Given the description of an element on the screen output the (x, y) to click on. 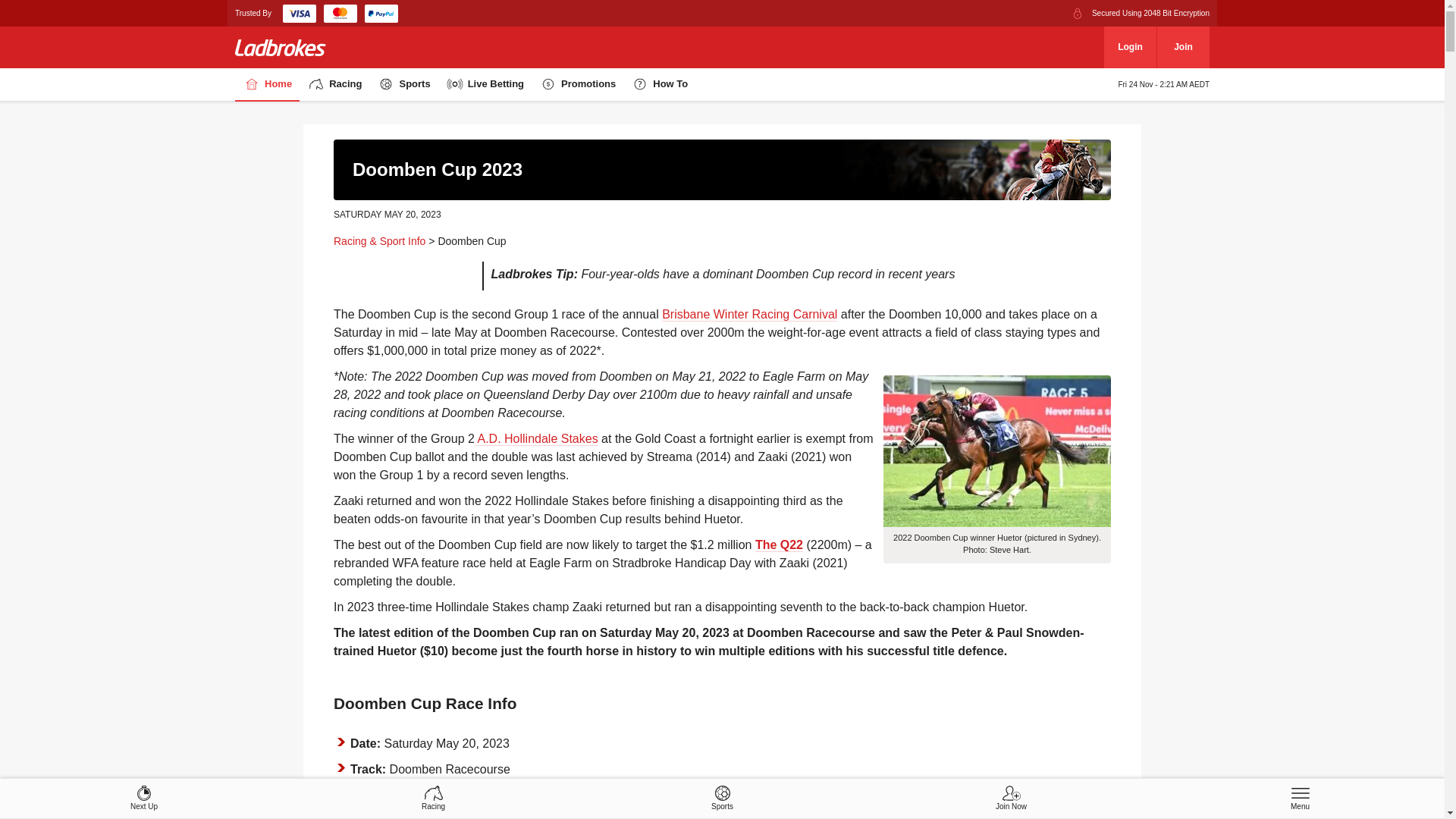
Home Element type: text (267, 84)
Sports Element type: text (722, 798)
How To Element type: text (659, 84)
Racing Element type: text (334, 84)
Racing Element type: text (433, 798)
Join Element type: text (1182, 47)
A.D. Hollindale Stakes Element type: text (536, 438)
Promotions Element type: text (577, 84)
Sports Element type: text (403, 84)
Brisbane Winter Racing Carnival Element type: text (749, 314)
The Q22 Element type: text (779, 545)
Next Up Element type: text (144, 798)
Racing & Sport Info Element type: text (379, 241)
Join Now Element type: text (1010, 798)
Live Betting Element type: text (484, 84)
Login Element type: text (1129, 47)
